Given the description of an element on the screen output the (x, y) to click on. 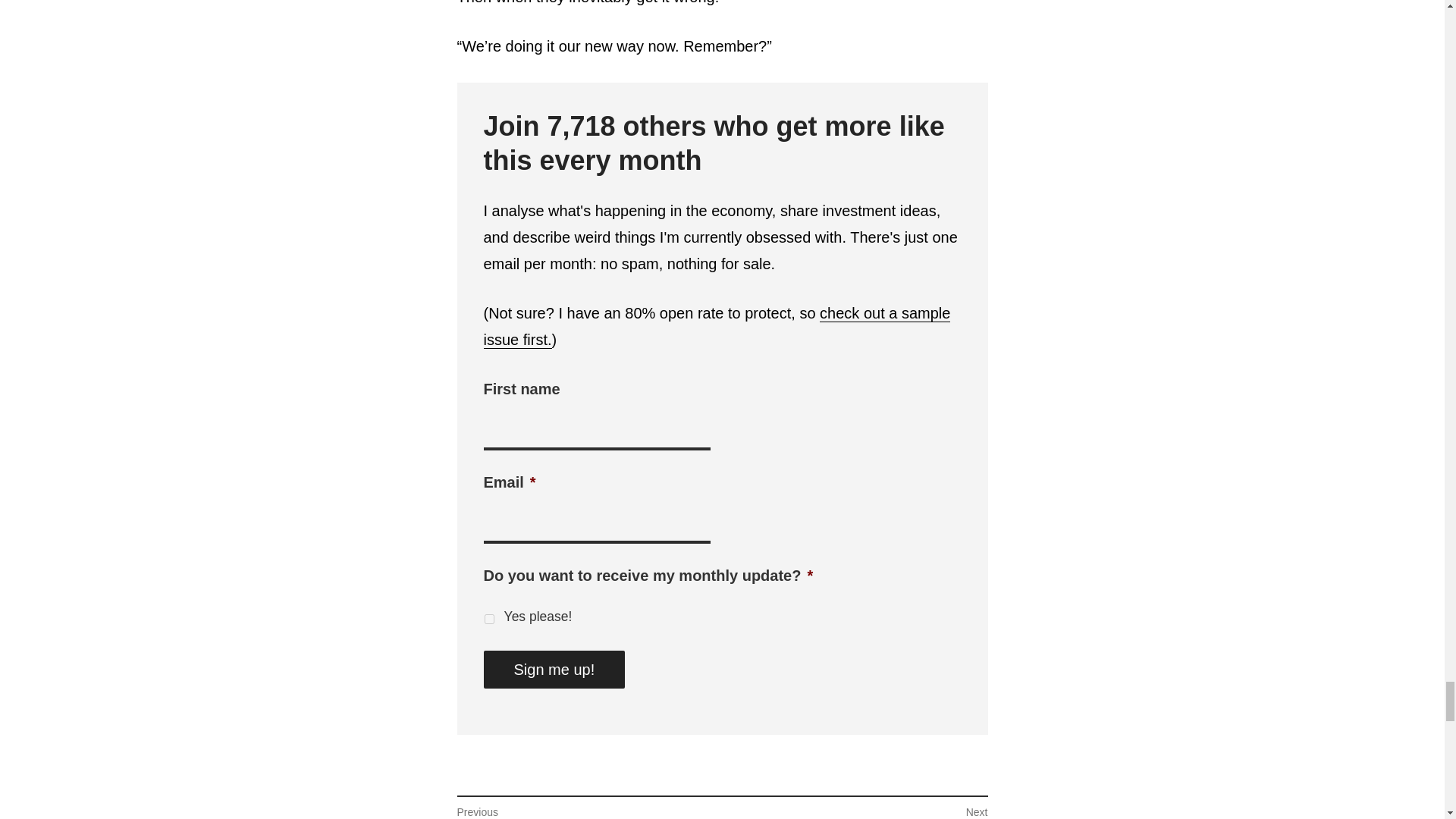
check out a sample issue first. (854, 811)
Yes please! (716, 326)
Sign me up! (488, 619)
Sign me up! (554, 669)
